Given the description of an element on the screen output the (x, y) to click on. 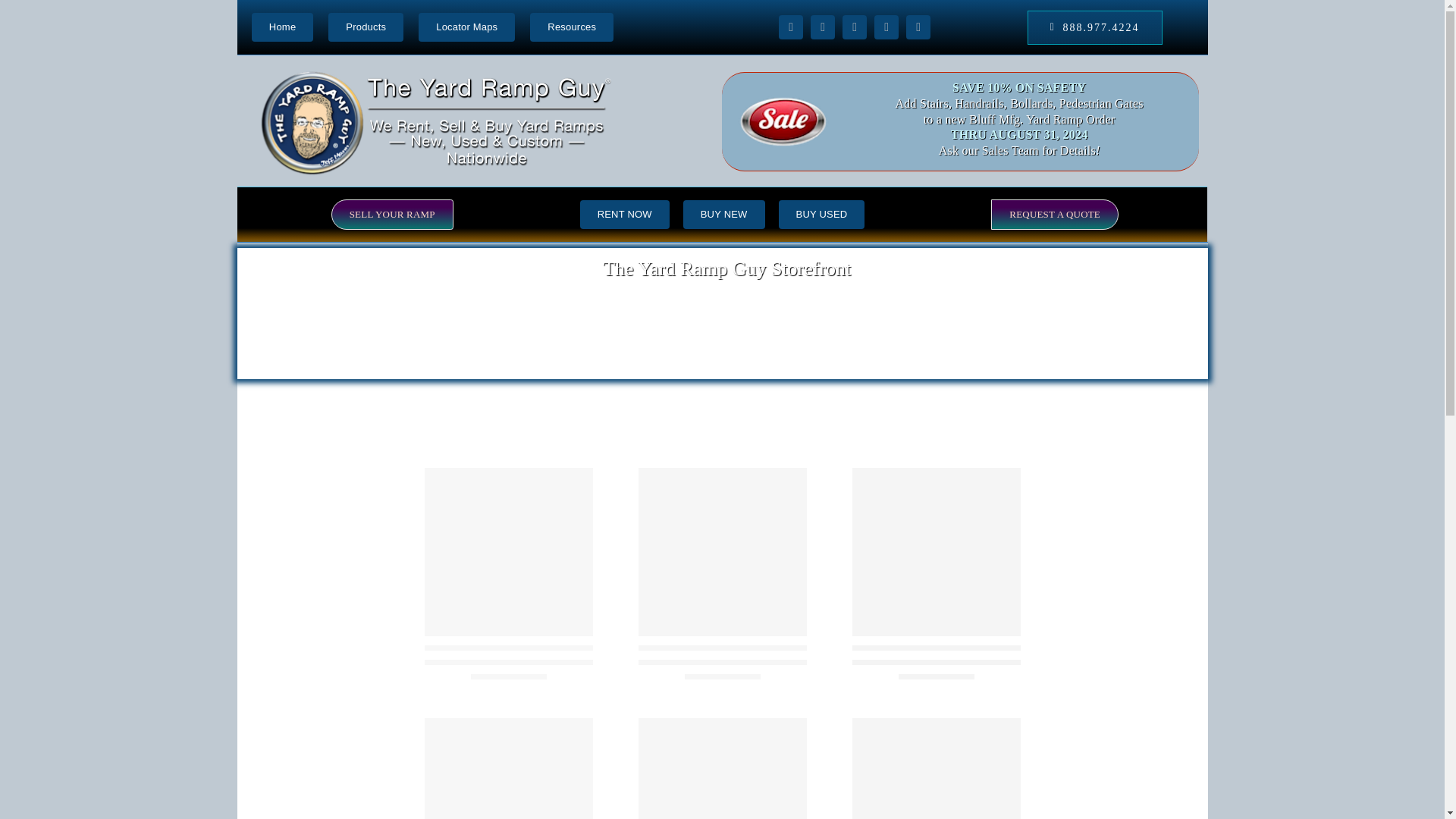
LinkedIn (917, 27)
Products (366, 27)
Home (282, 27)
The Yard Ramp Guy Storefront (721, 313)
Locator Maps (467, 27)
Facebook (790, 27)
Resources (570, 27)
sale2024m (783, 121)
YouTube (854, 27)
Email (886, 27)
